Given the description of an element on the screen output the (x, y) to click on. 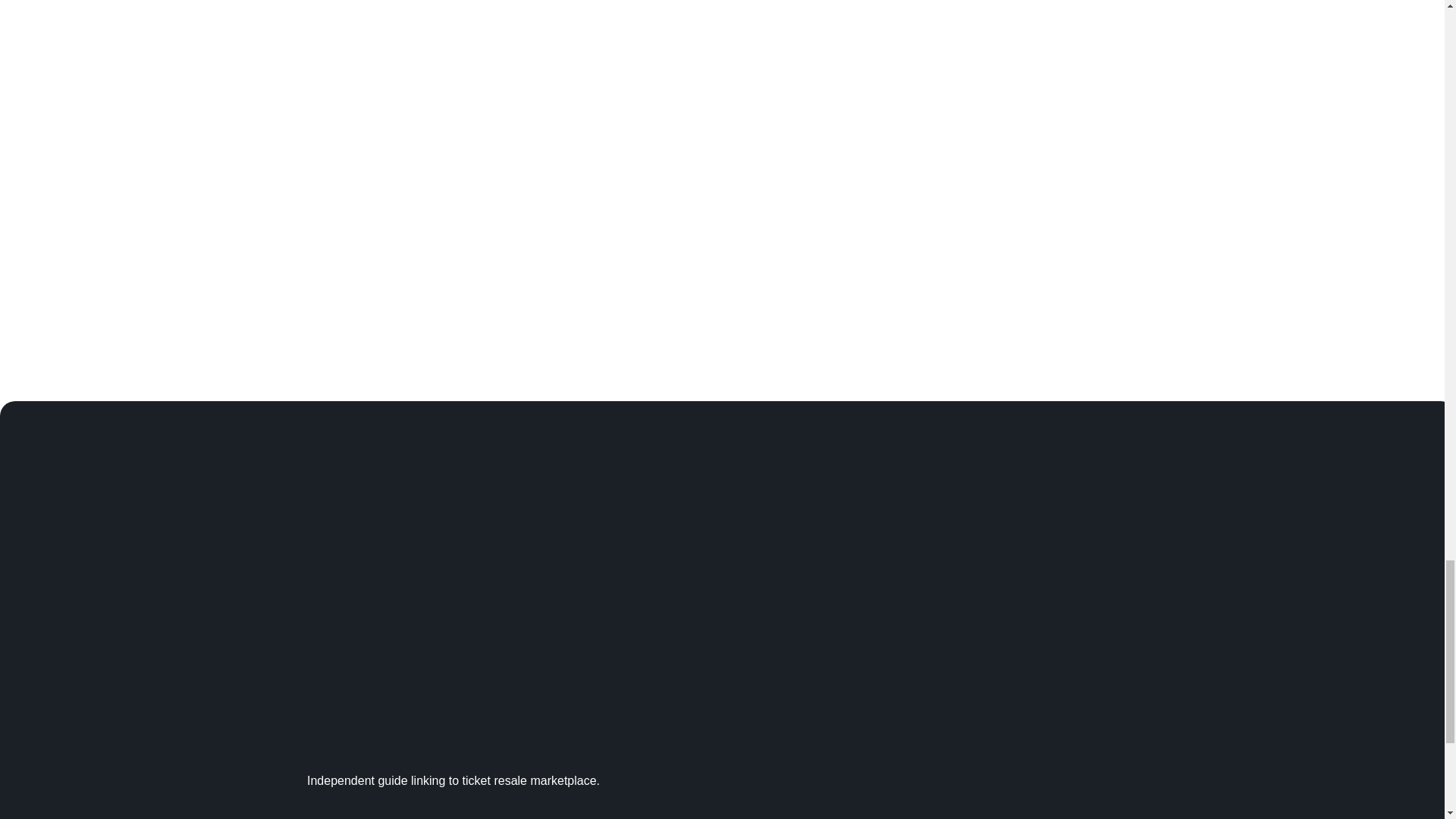
The Phantom Of The Opera - Theme Song (686, 40)
